Given the description of an element on the screen output the (x, y) to click on. 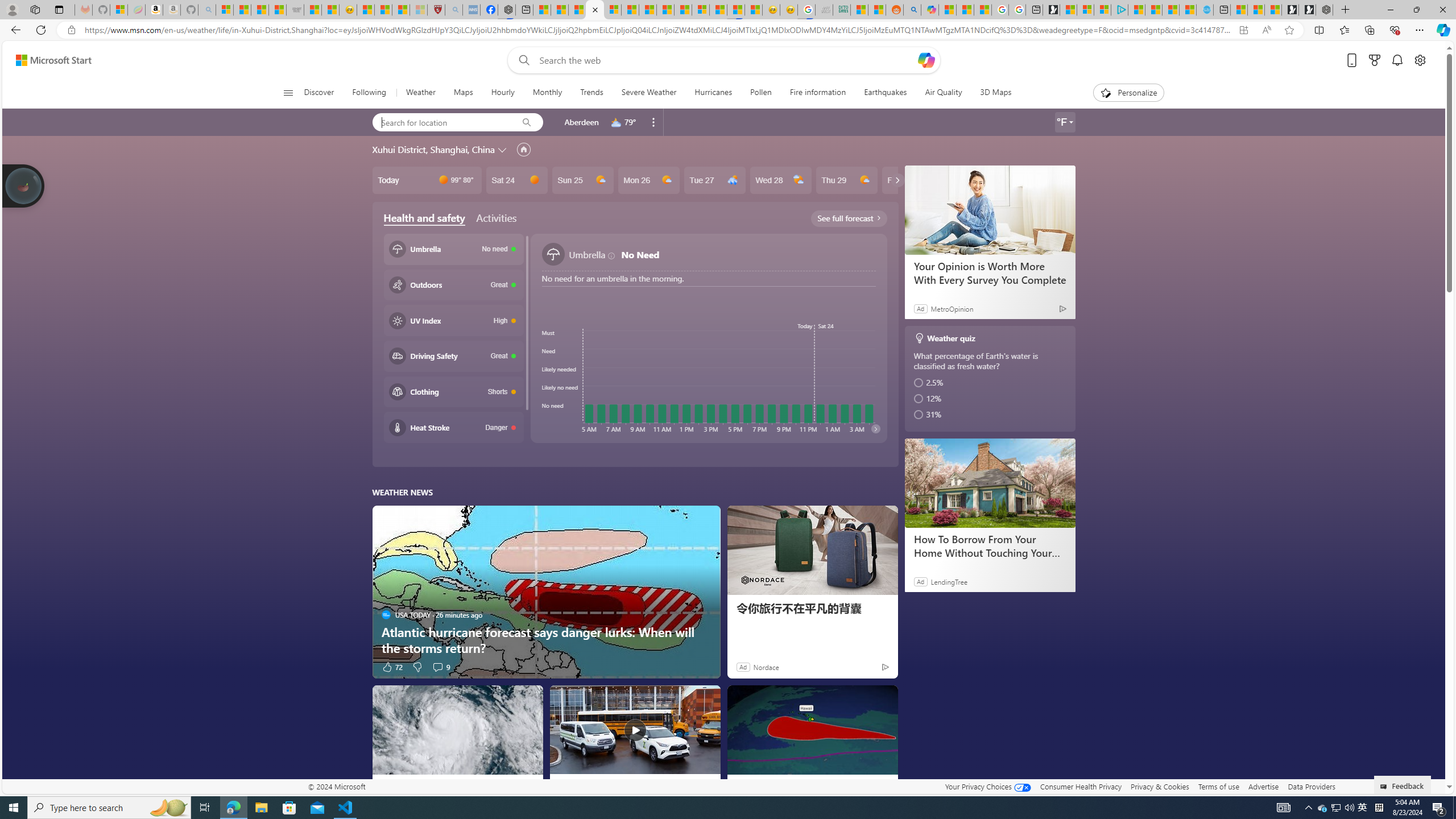
Fri 30 (911, 180)
Discover (319, 92)
Science - MSN (400, 9)
Hourly (502, 92)
Sun 25 (581, 180)
Ad Choice (884, 666)
Aberdeen (581, 121)
Microsoft Start (1170, 9)
Trends (591, 92)
3D Maps (991, 92)
Outdoors Great (453, 284)
Skip to content (49, 59)
Wed 28 (779, 180)
